Given the description of an element on the screen output the (x, y) to click on. 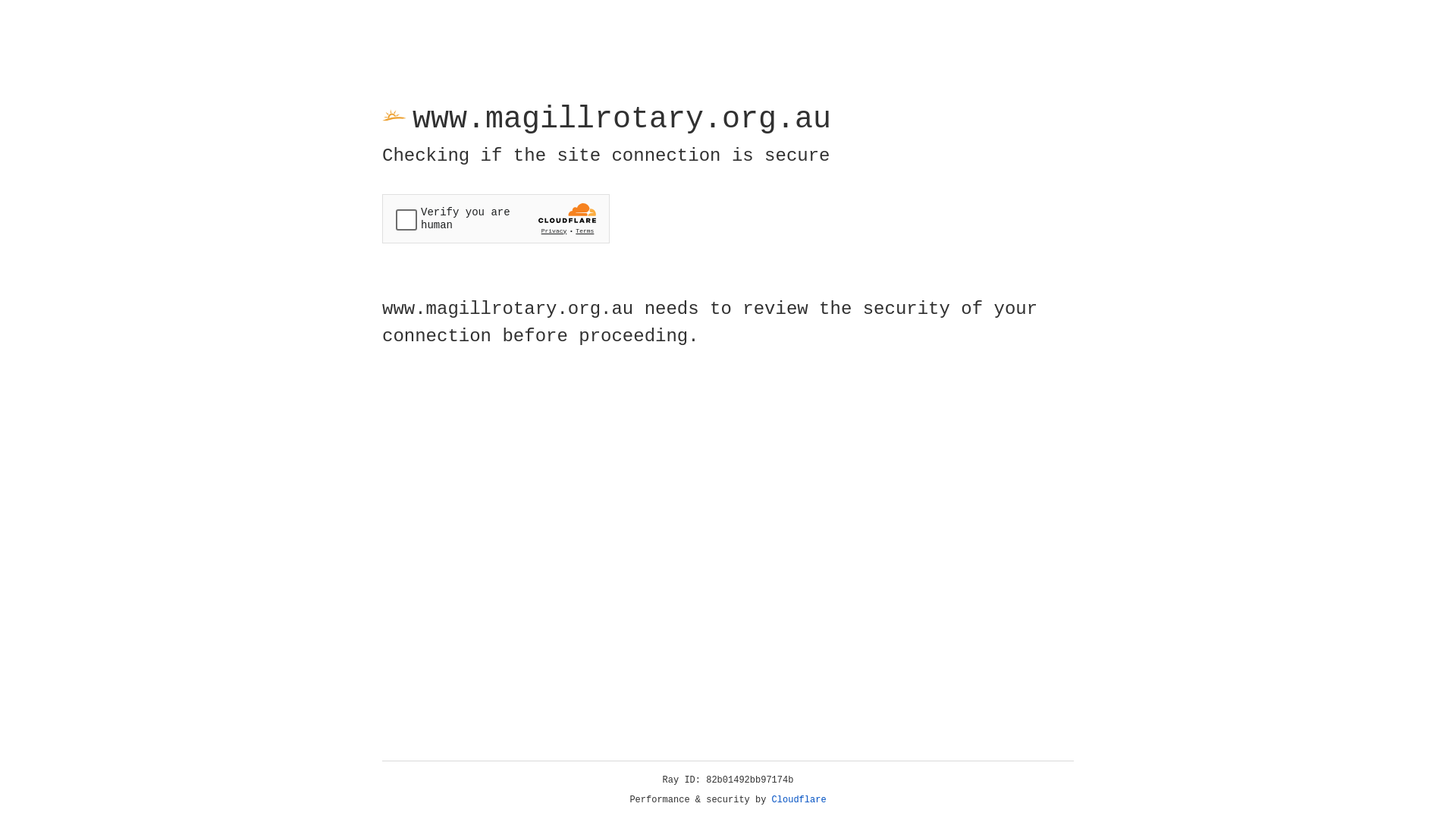
Cloudflare Element type: text (798, 799)
Widget containing a Cloudflare security challenge Element type: hover (495, 218)
